Given the description of an element on the screen output the (x, y) to click on. 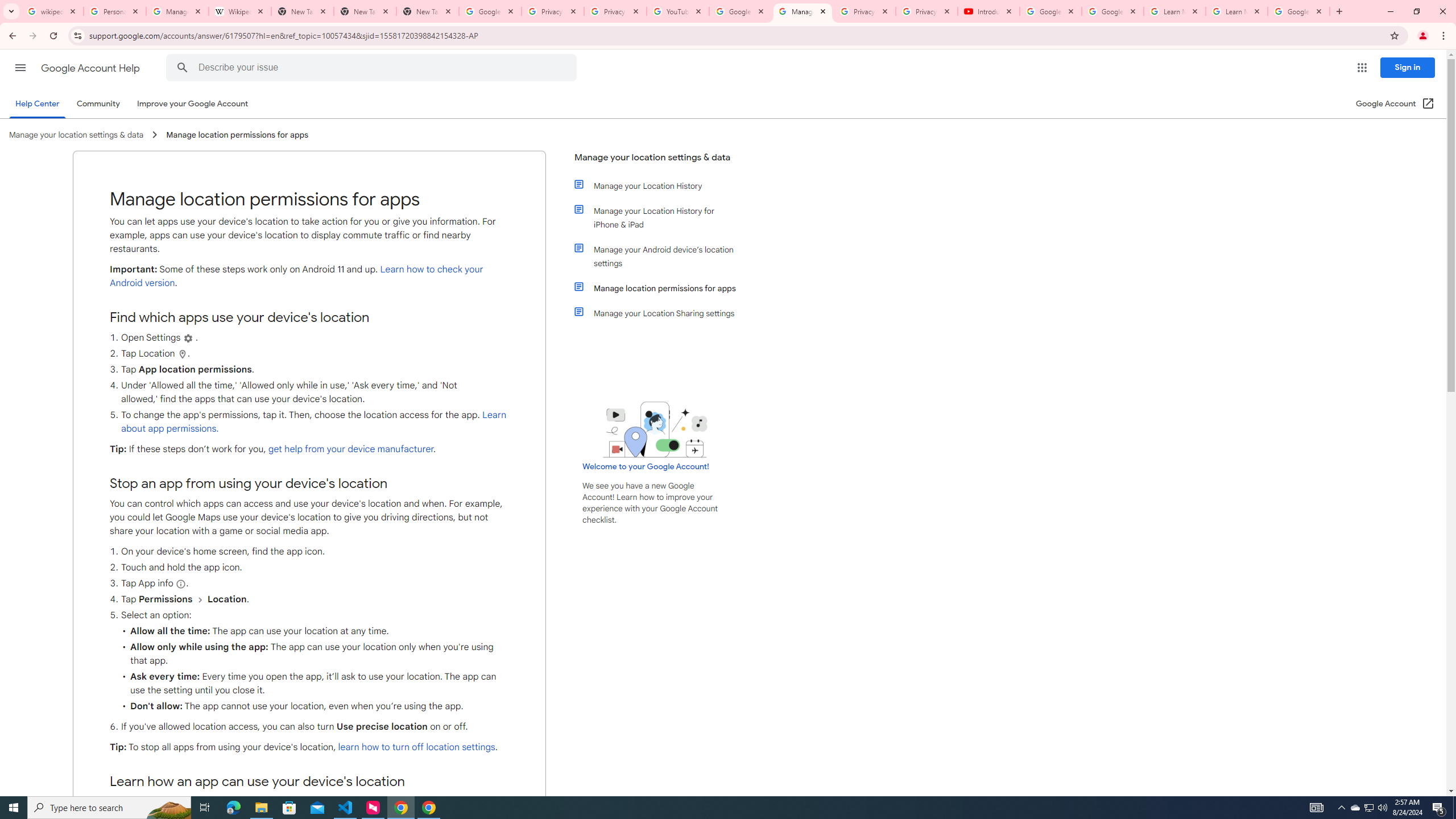
Manage location permissions for apps - Google Account Help (802, 11)
Manage your Location History (661, 185)
Community (97, 103)
Google Account (Open in a new window) (1395, 103)
Improve your Google Account (192, 103)
Main menu (20, 67)
Learning Center home page image (655, 429)
New Tab (365, 11)
